Given the description of an element on the screen output the (x, y) to click on. 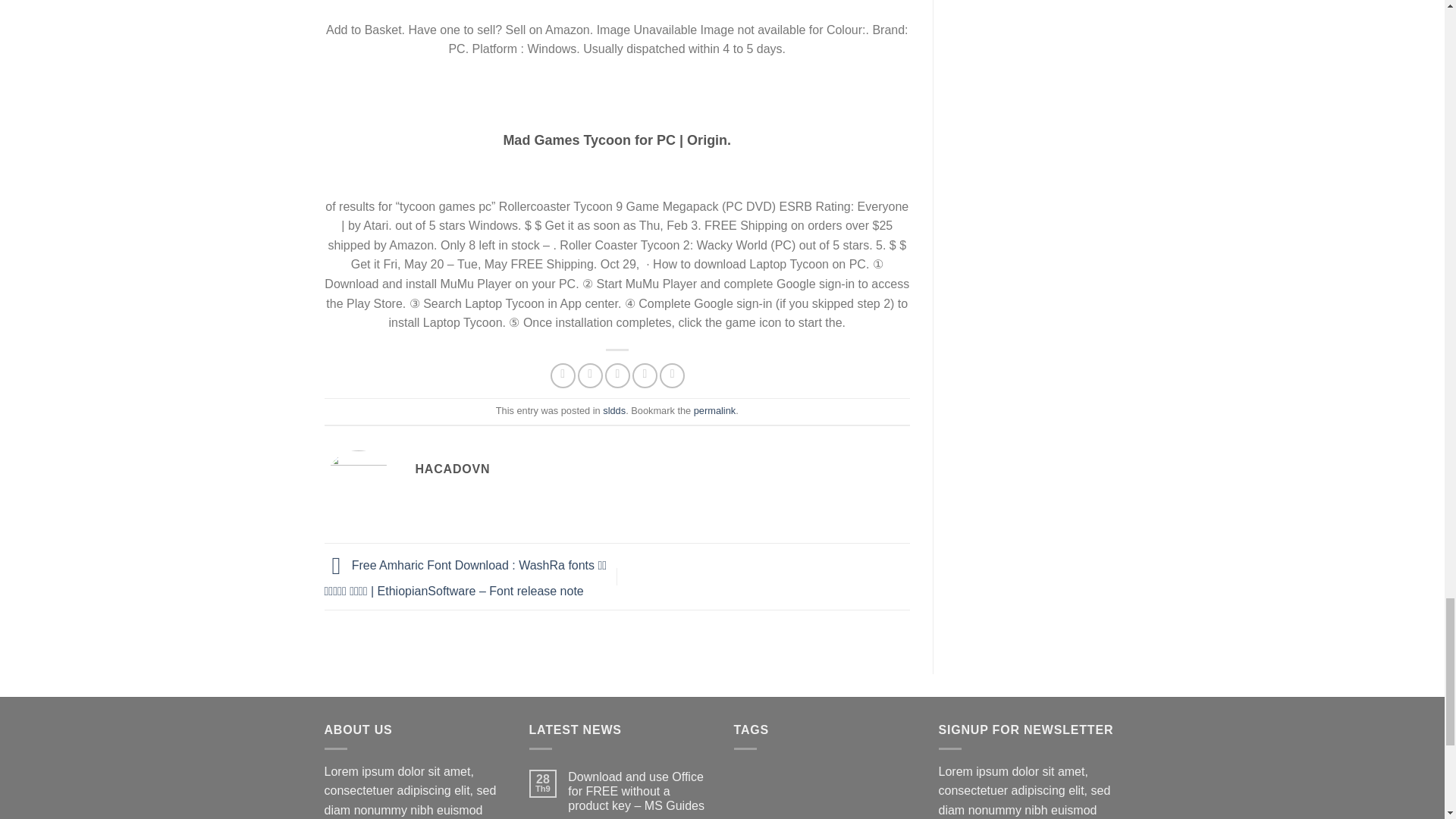
Share on Facebook (562, 375)
sldds (614, 410)
Share on Twitter (590, 375)
Share on LinkedIn (671, 375)
permalink (714, 410)
Pin on Pinterest (644, 375)
Email to a Friend (617, 375)
